Given the description of an element on the screen output the (x, y) to click on. 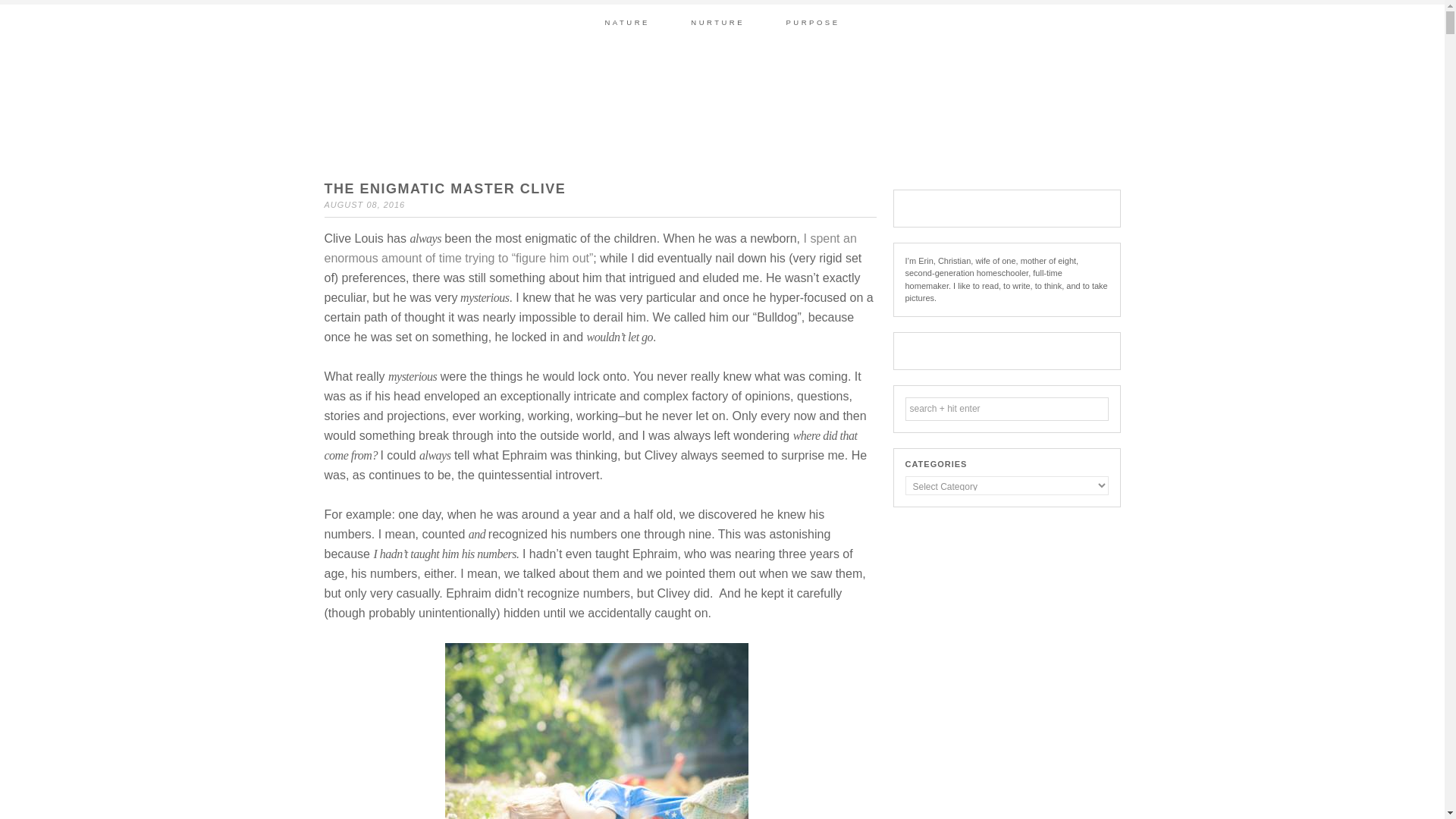
NATURE (626, 22)
NURTURE (716, 22)
THE HONEY HOME (721, 105)
PURPOSE (813, 22)
THE ENIGMATIC MASTER CLIVE (445, 188)
